Given the description of an element on the screen output the (x, y) to click on. 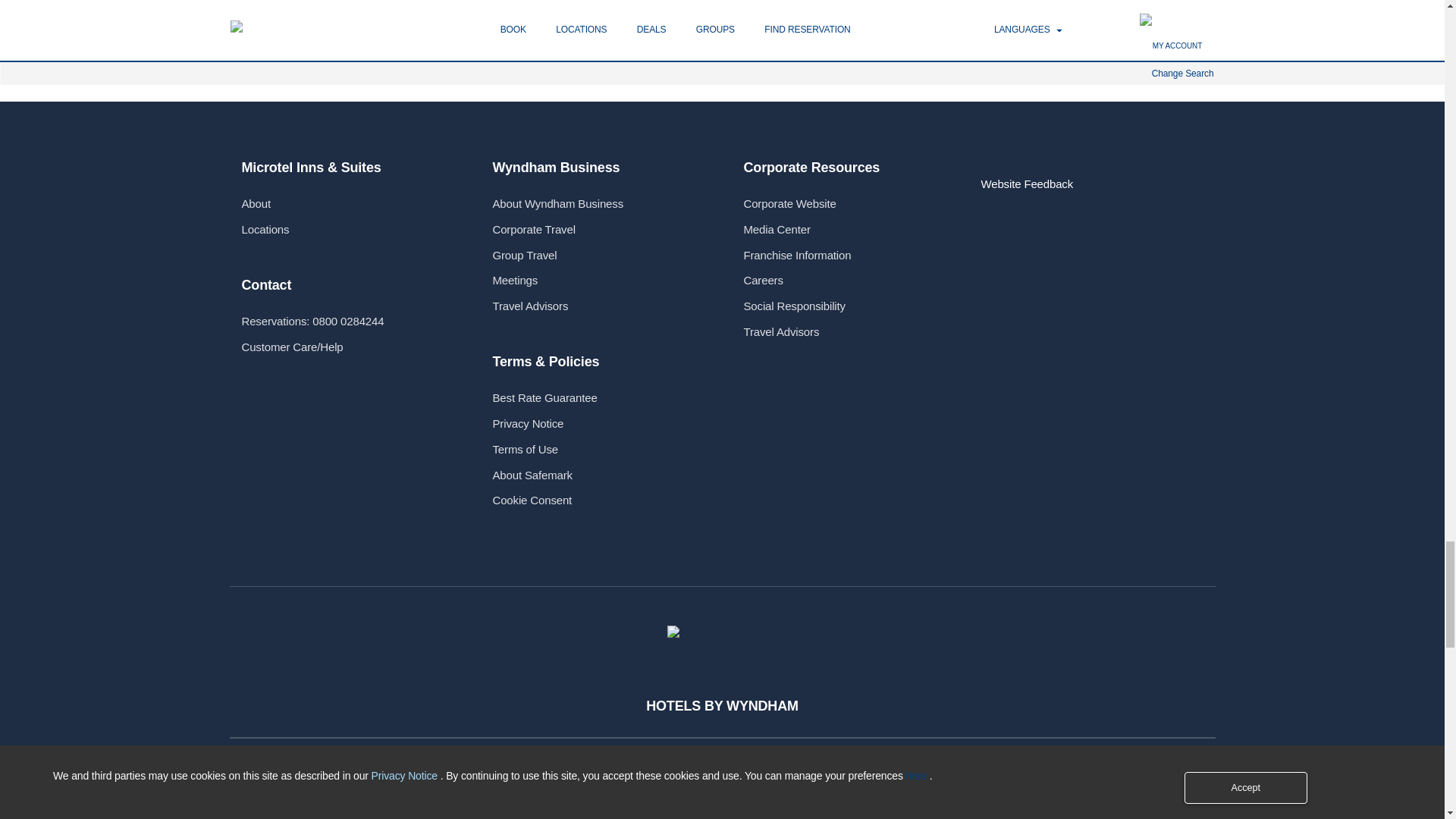
Wyndham Hotels and Resorts (967, 805)
Days Inn (475, 805)
Hawthorn Suites by Wyndham (311, 805)
Wyndham Rewards (721, 633)
TRYP by Wyndham (803, 805)
Wyndham Hotels and Resorts (967, 805)
TRYP by Wyndham (803, 805)
Hawthorn Suites by Wyndham (311, 805)
La Quinta (640, 805)
Days Inn (475, 805)
La Quinta (640, 805)
